Given the description of an element on the screen output the (x, y) to click on. 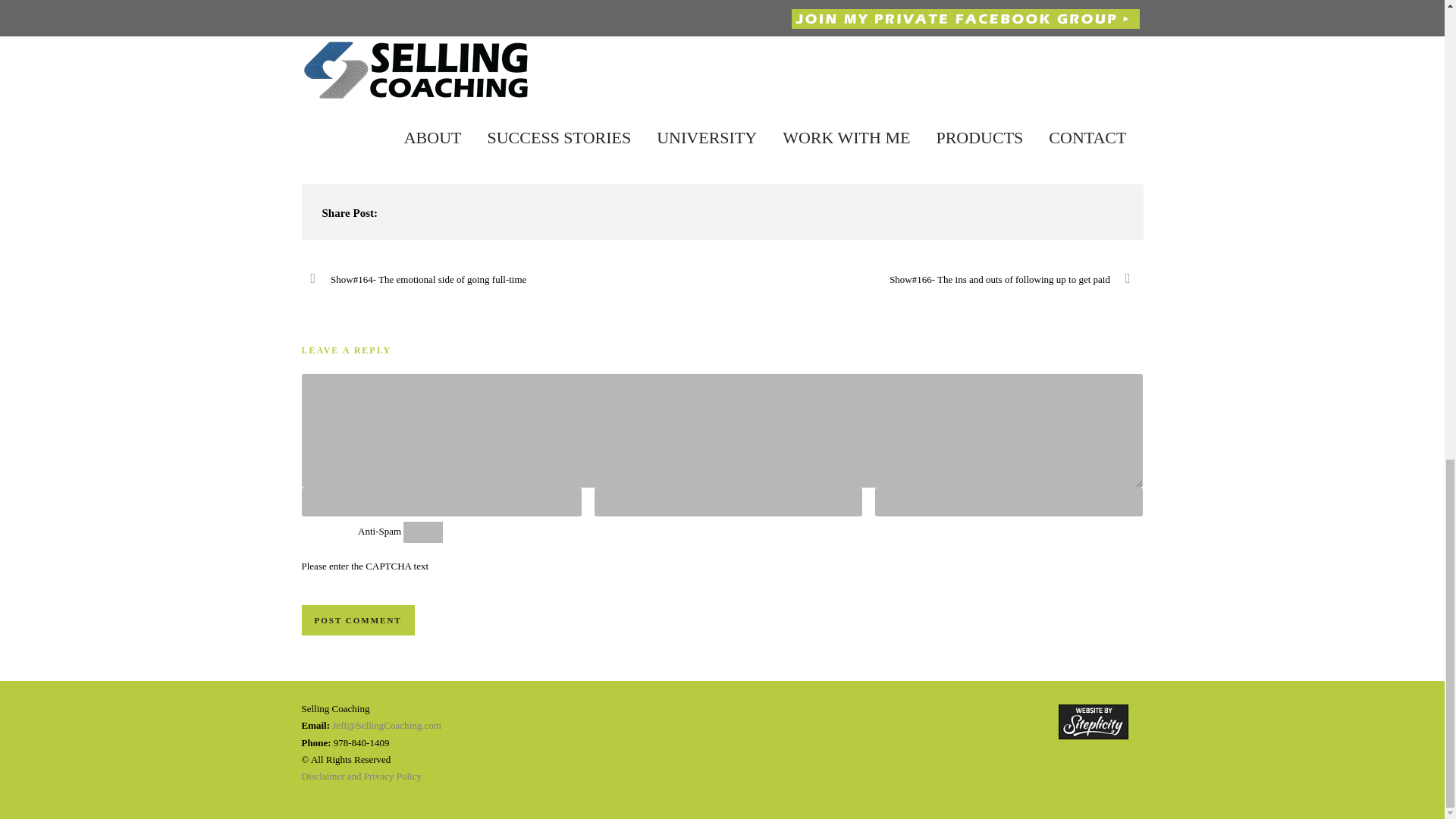
Post Comment (357, 620)
CLICK HERE OR THE PICTURE ABOVE TO GET YOUR COPY NOW (458, 136)
Disclaimer and Privacy Policy (361, 776)
Post Comment (357, 620)
